Given the description of an element on the screen output the (x, y) to click on. 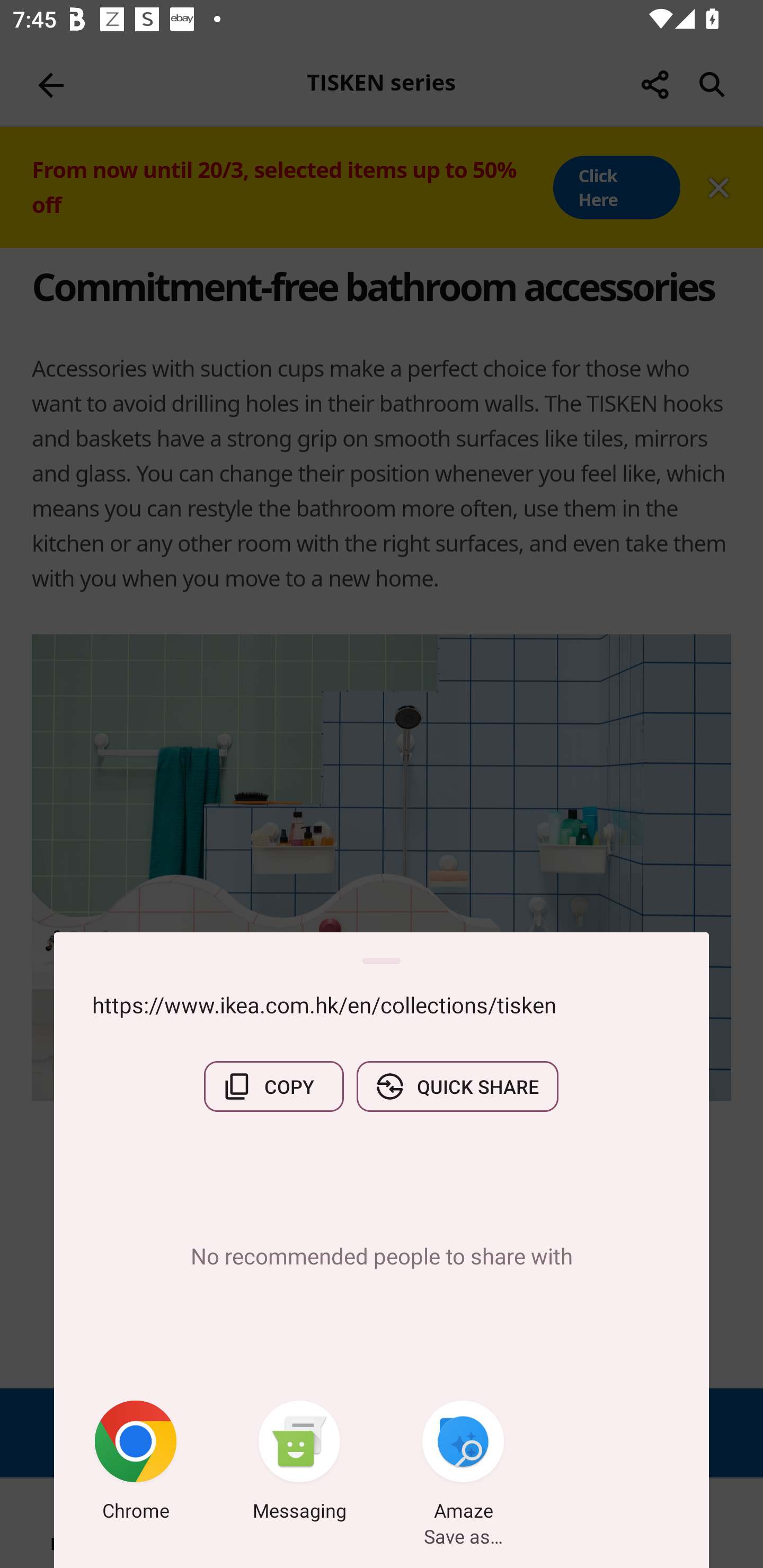
COPY (273, 1086)
QUICK SHARE (457, 1086)
Chrome (135, 1463)
Messaging (299, 1463)
Amaze Save as… (463, 1463)
